Given the description of an element on the screen output the (x, y) to click on. 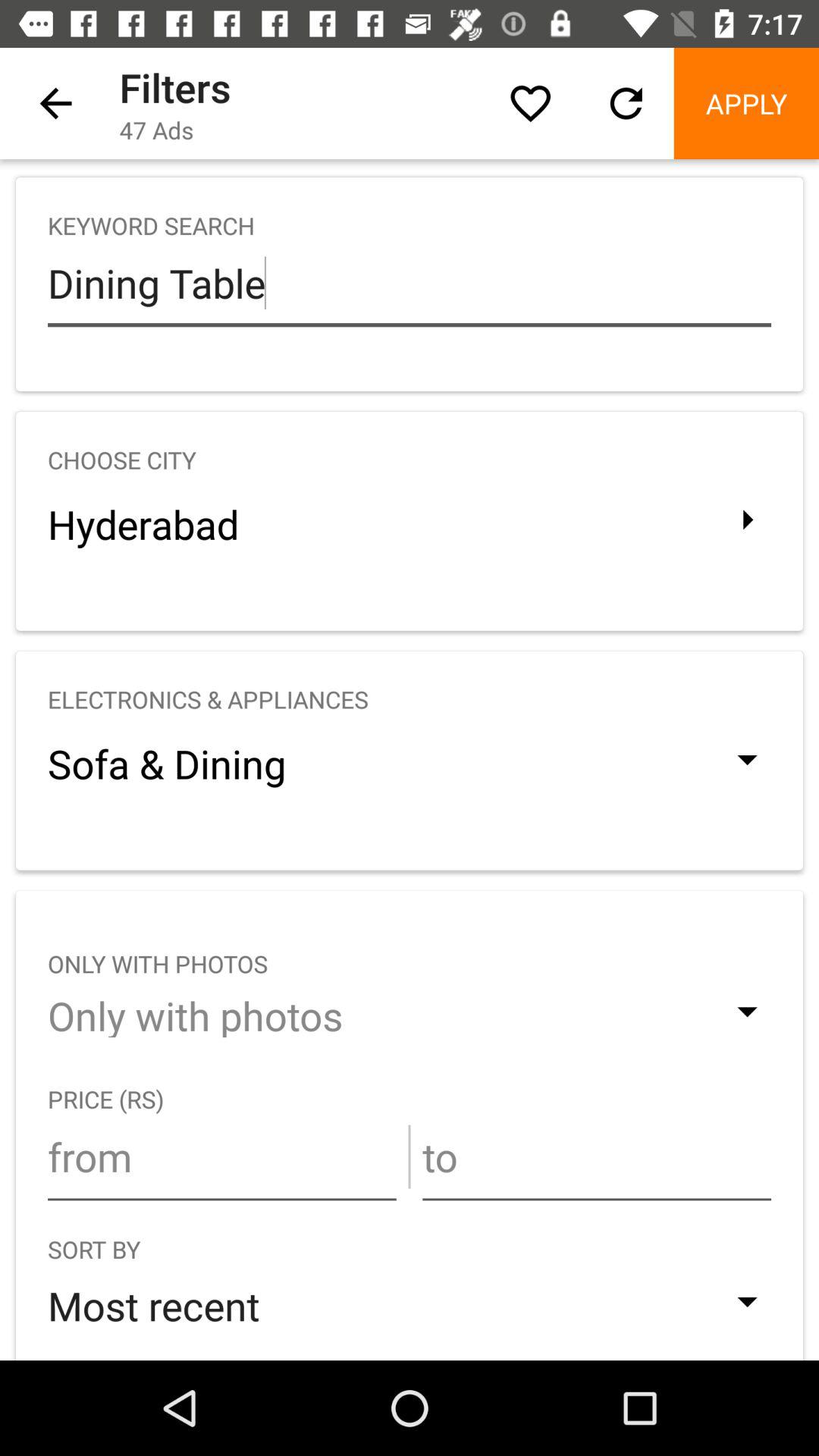
press the icon below the only with photos item (221, 1156)
